Given the description of an element on the screen output the (x, y) to click on. 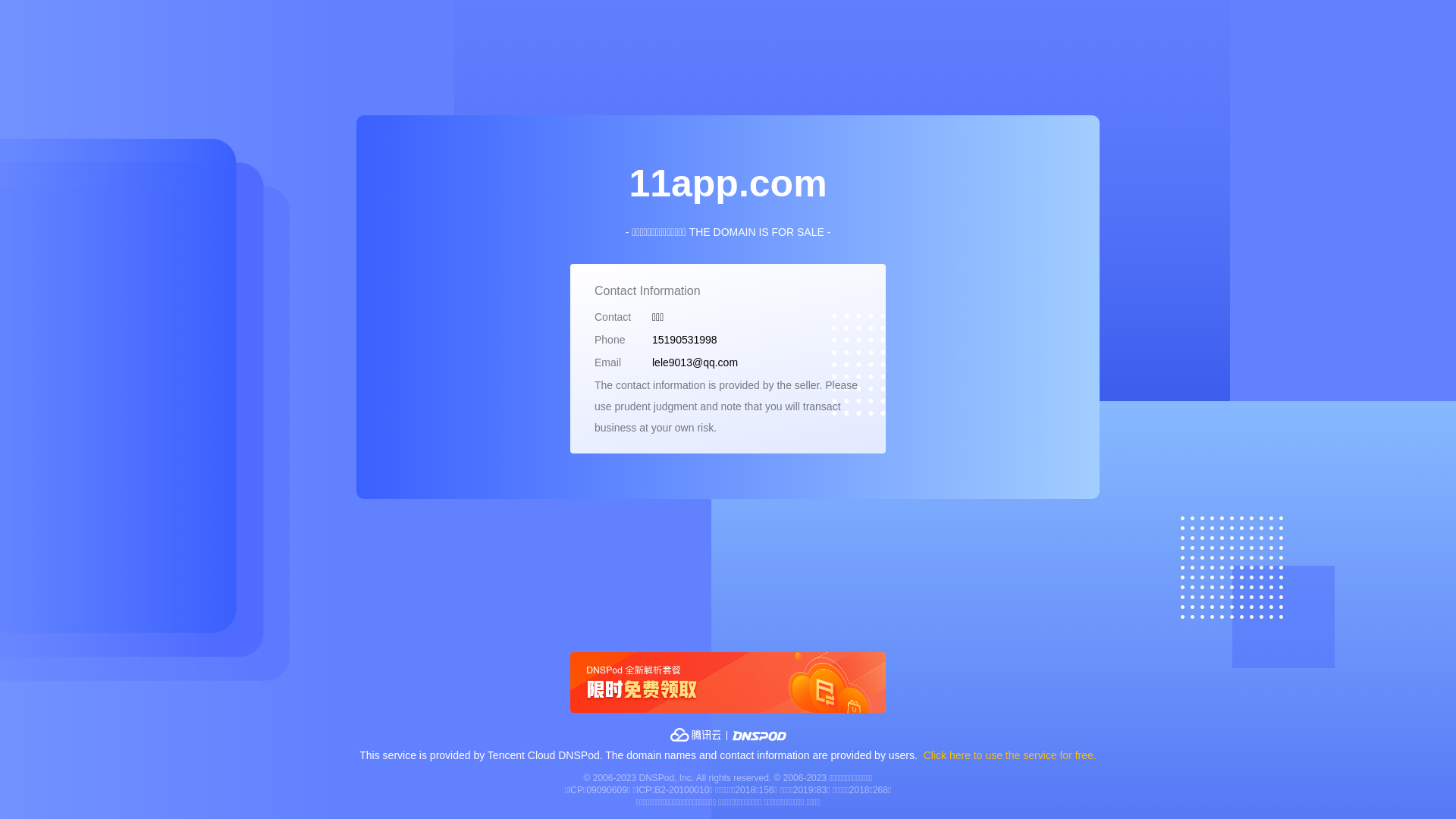
Click here to use the service for free. Element type: text (1009, 755)
